Given the description of an element on the screen output the (x, y) to click on. 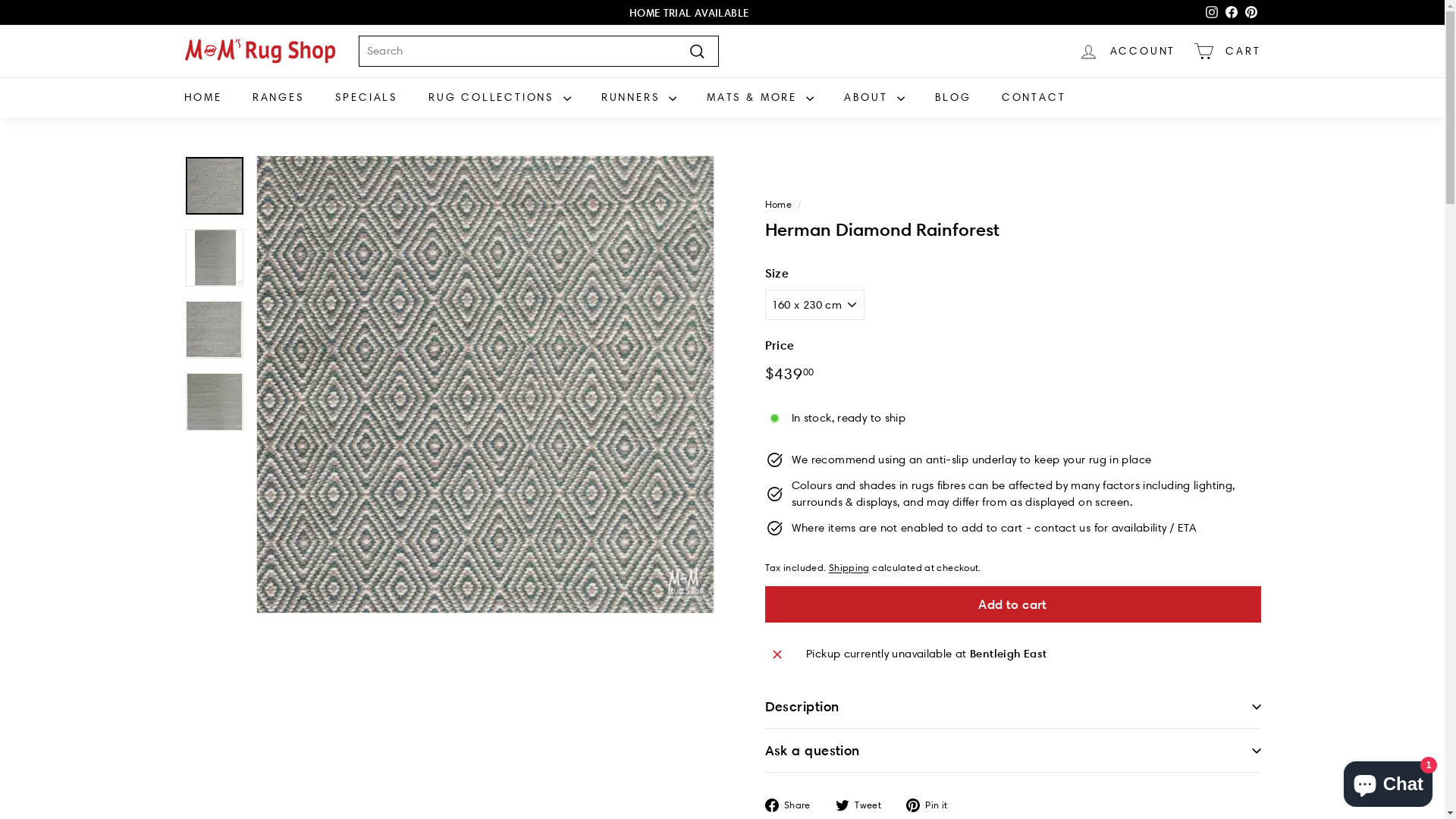
Shopify online store chat Element type: hover (1388, 780)
Pin it
Pin on Pinterest Element type: text (932, 803)
HOME Element type: text (202, 97)
SPECIALS Element type: text (366, 97)
BLOG Element type: text (952, 97)
Share
Share on Facebook Element type: text (792, 803)
instagram
Instagram Element type: text (1210, 12)
Add to cart Element type: text (1012, 604)
CONTACT Element type: text (1033, 97)
Home Element type: text (777, 203)
ACCOUNT Element type: text (1127, 50)
Facebook Element type: text (1230, 12)
Ask a question Element type: text (1012, 750)
Pinterest Element type: text (1250, 12)
Shipping Element type: text (848, 567)
RANGES Element type: text (278, 97)
twitter Tweet
Tweet on Twitter Element type: text (863, 803)
Description Element type: text (1012, 706)
CART Element type: text (1226, 50)
